Given the description of an element on the screen output the (x, y) to click on. 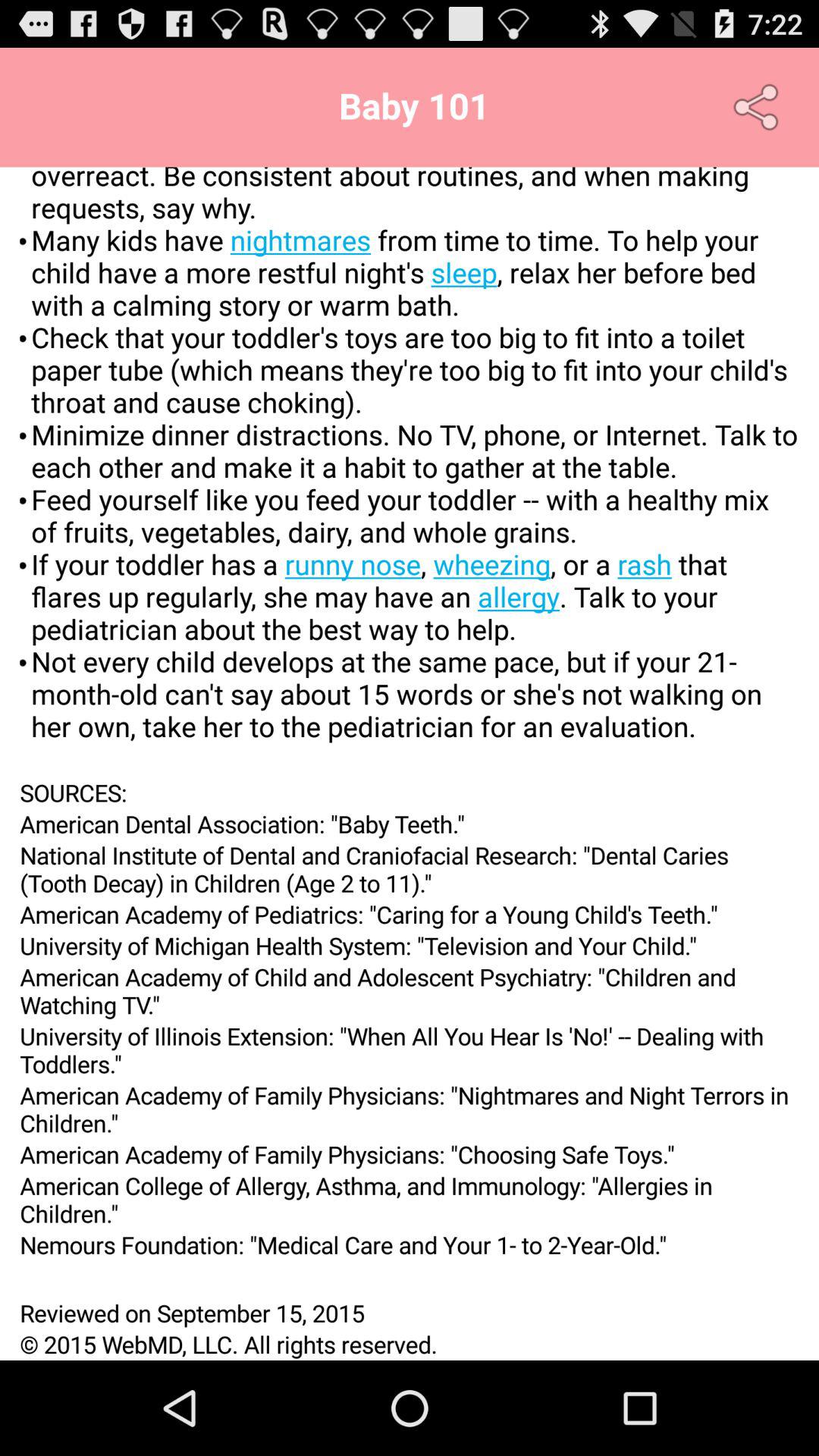
click the item below sources: icon (409, 824)
